Given the description of an element on the screen output the (x, y) to click on. 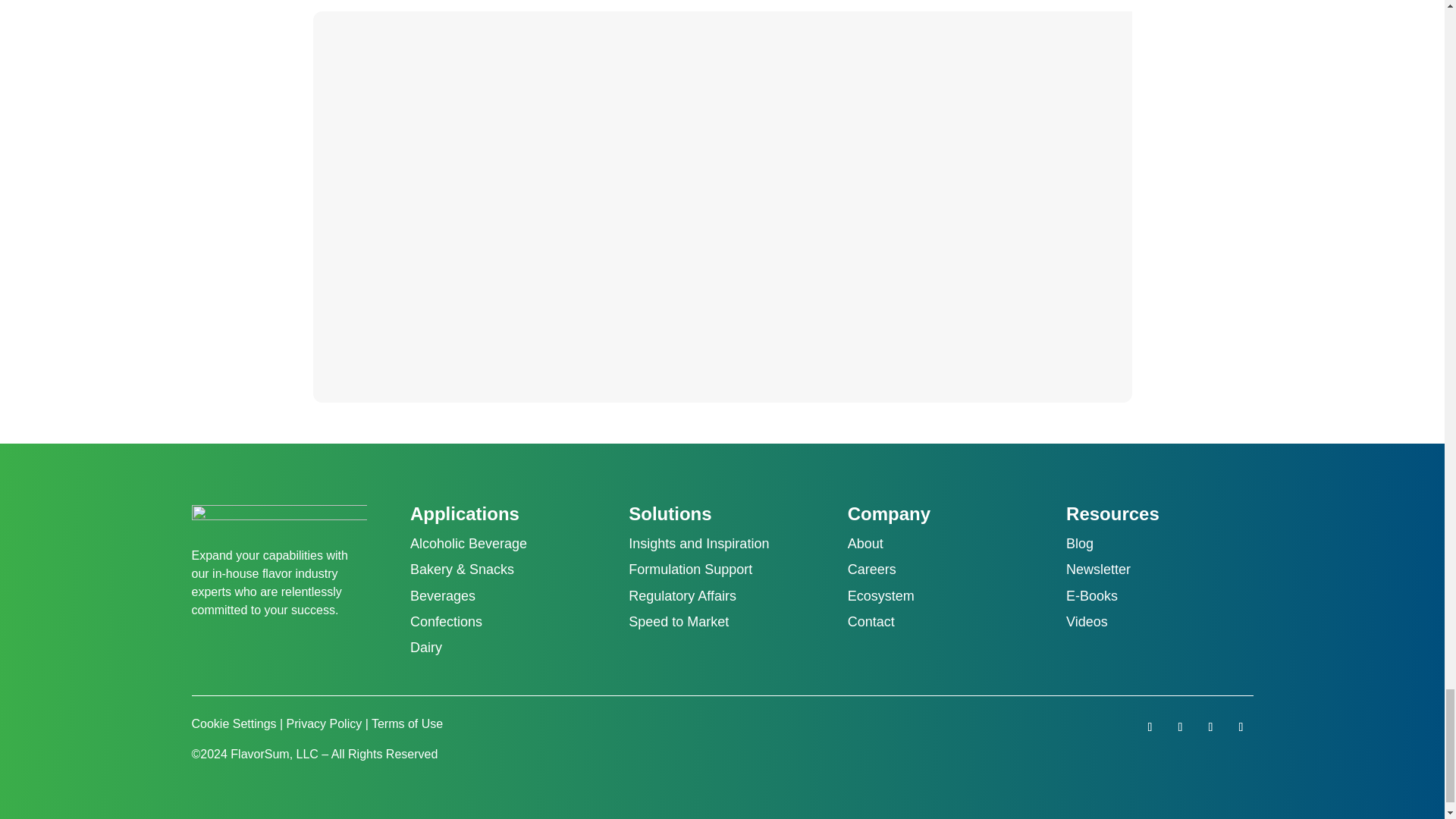
Follow on Youtube (1179, 726)
Follow on Instagram (1240, 726)
Follow on LinkedIn (1149, 726)
Follow on Facebook (1210, 726)
